Given the description of an element on the screen output the (x, y) to click on. 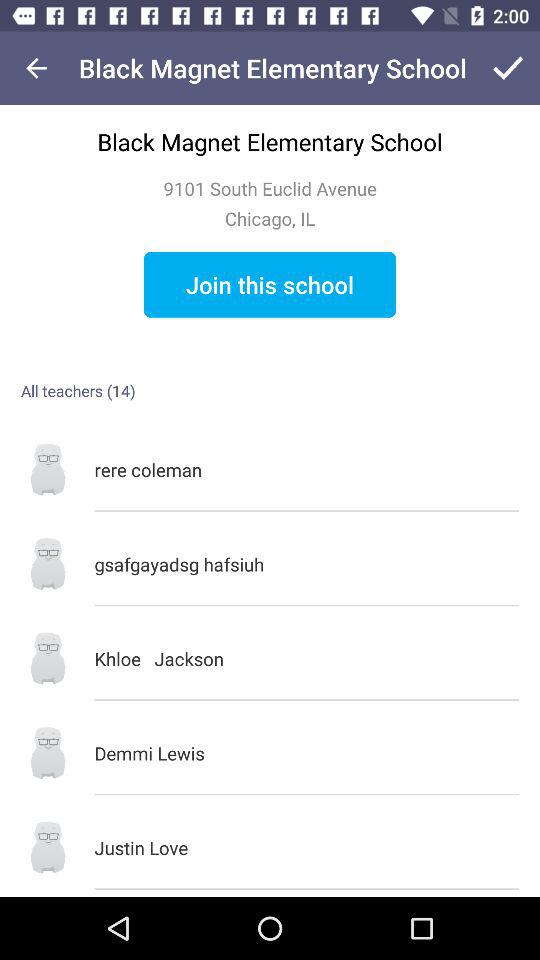
click the item next to black magnet elementary (36, 68)
